Given the description of an element on the screen output the (x, y) to click on. 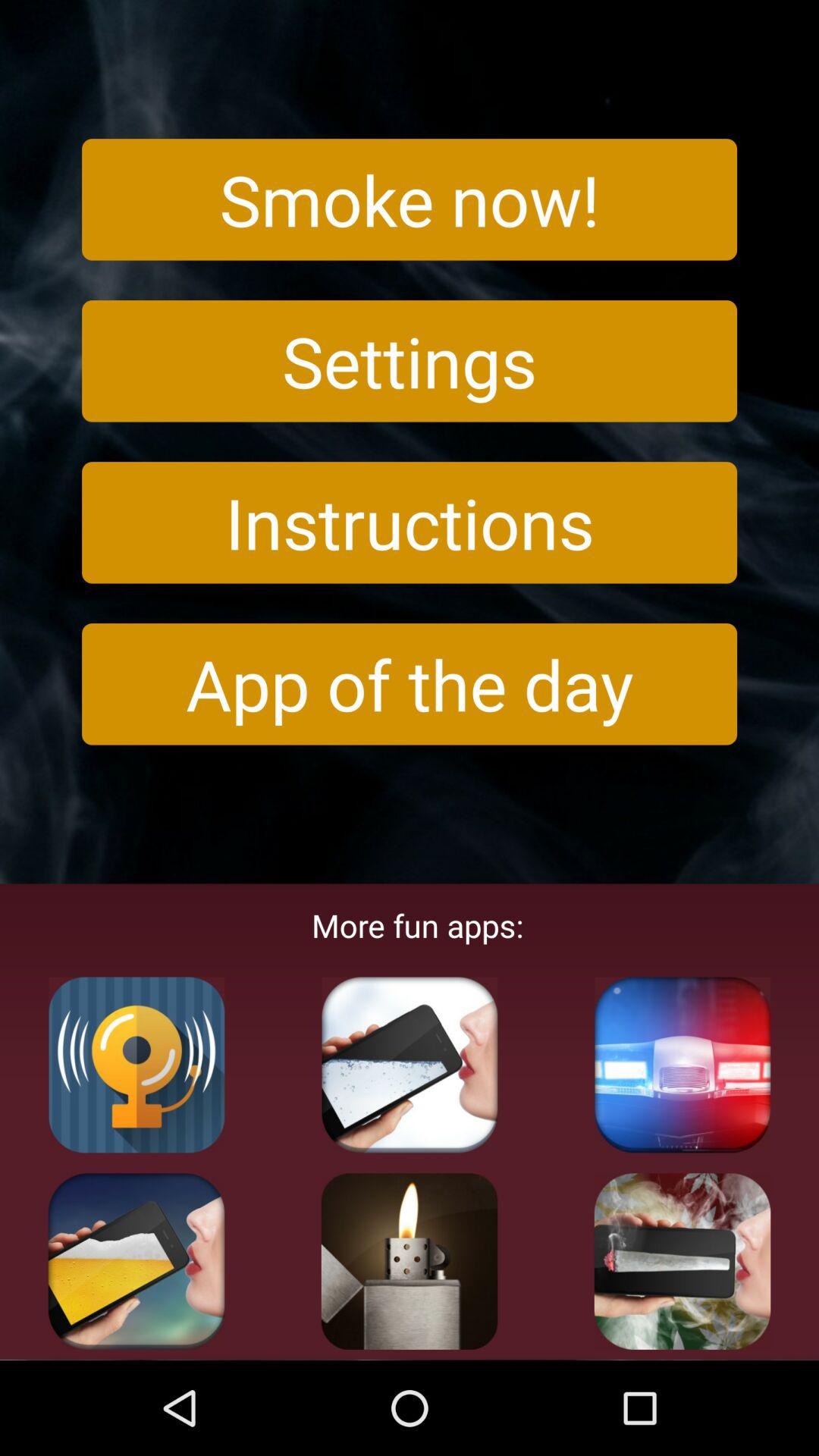
find another app (682, 1261)
